Given the description of an element on the screen output the (x, y) to click on. 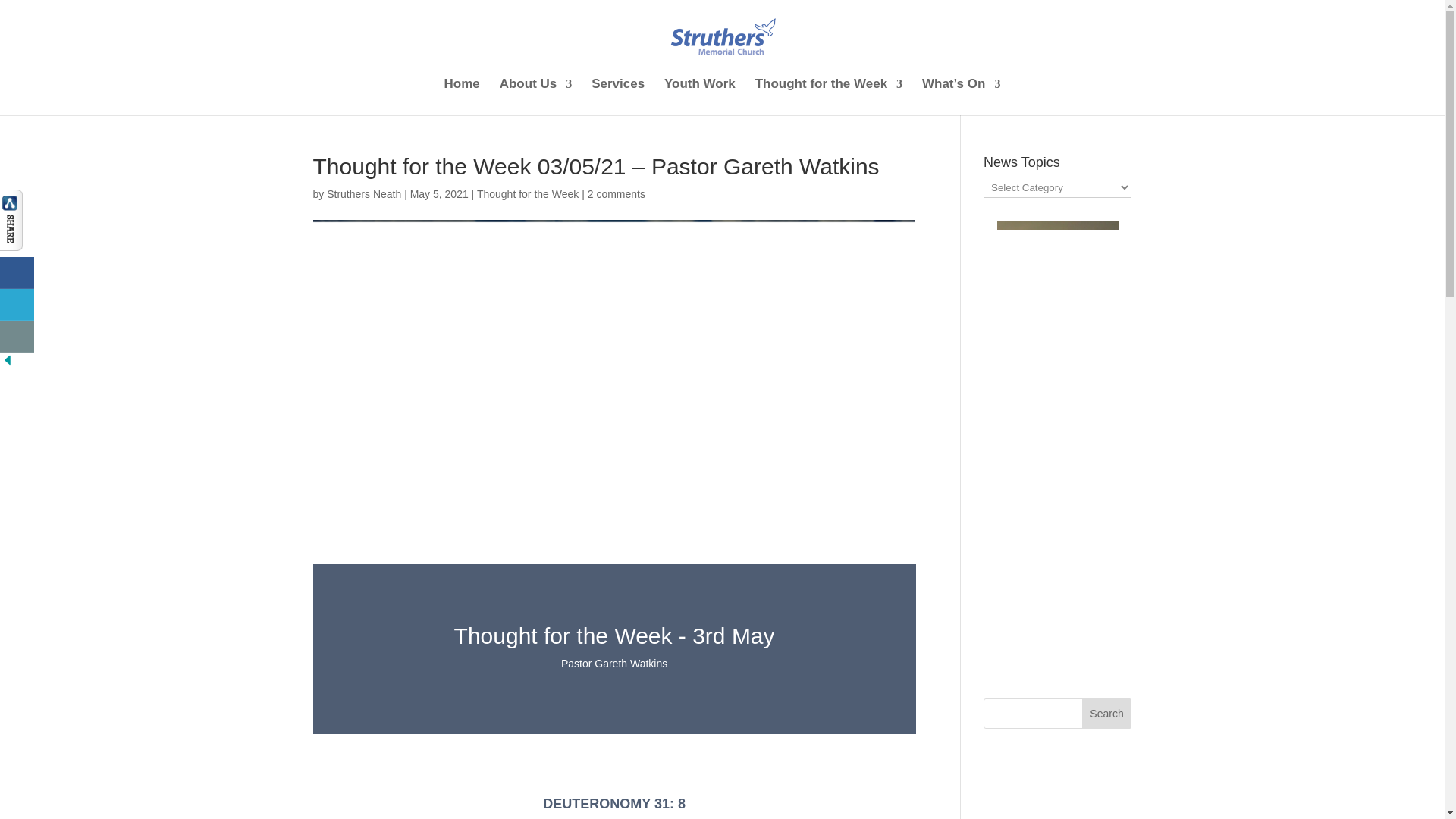
Share This With Your Friends (18, 281)
Hide Buttons (7, 363)
Struthers Neath (363, 193)
Home (462, 96)
Share On Twitter (16, 305)
Thought for the Week (527, 193)
Thought for the Week (828, 96)
Share On Facebook (16, 273)
About Us (535, 96)
2 comments (616, 193)
Posts by Struthers Neath (363, 193)
Contact us (16, 336)
Show Buttons (11, 246)
Search (1106, 713)
Services (618, 96)
